Given the description of an element on the screen output the (x, y) to click on. 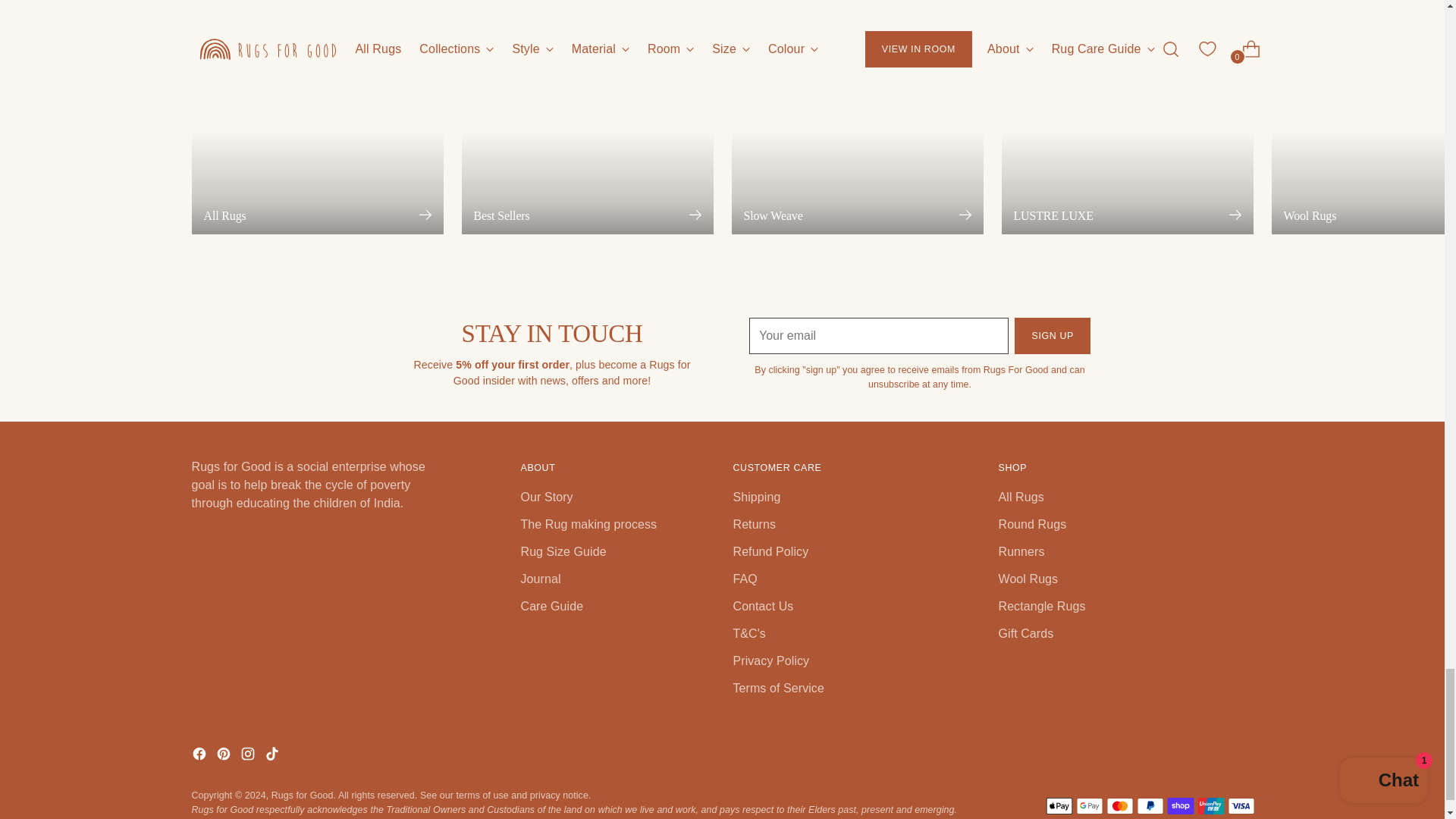
Rugs for Good on Pinterest (223, 756)
Rugs for Good on Tiktok (272, 756)
